Given the description of an element on the screen output the (x, y) to click on. 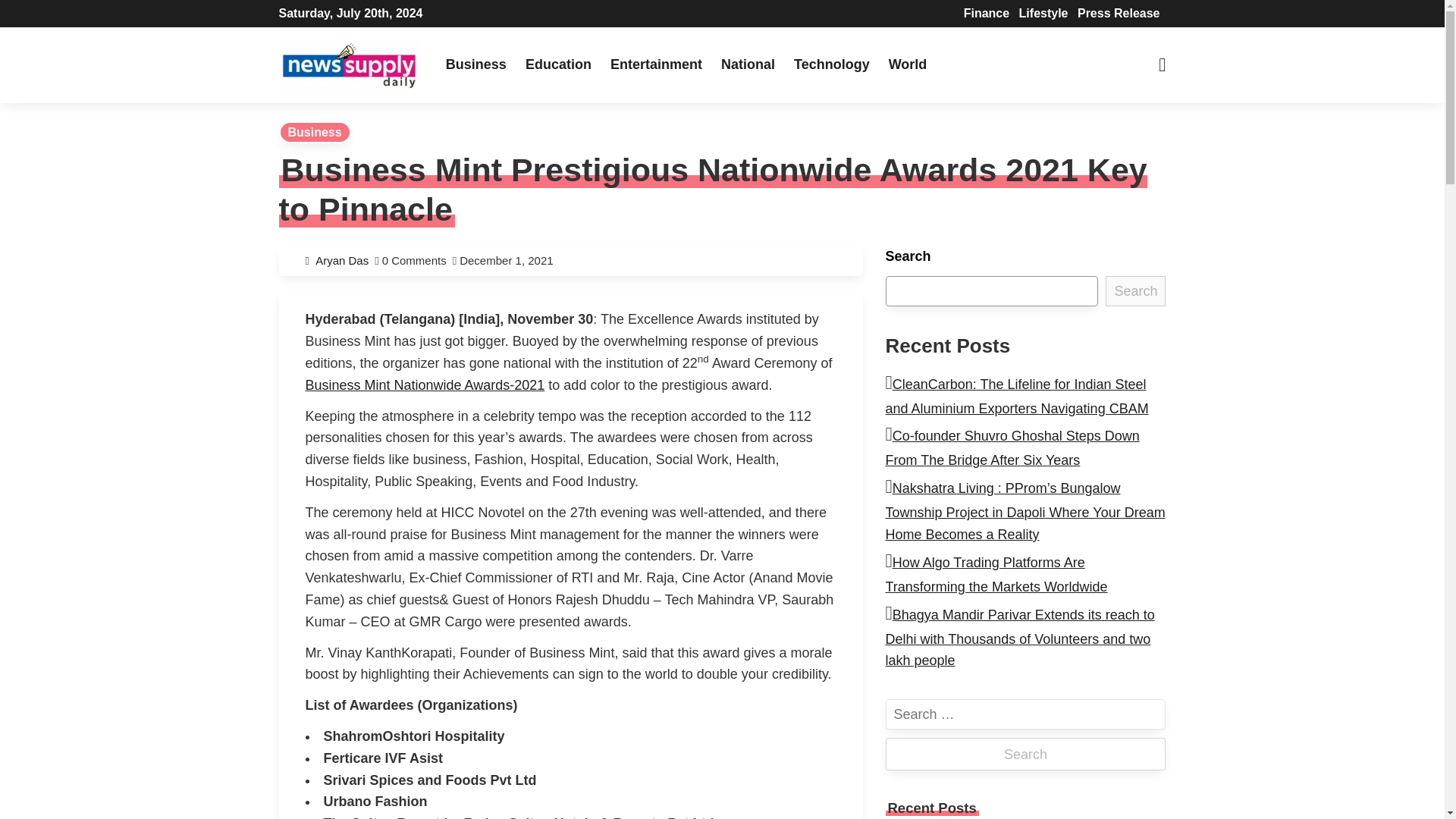
Press Release (1118, 12)
Search (1135, 291)
Business (315, 132)
Search (1025, 753)
Search (1025, 753)
Education (558, 64)
Lifestyle (1043, 12)
Entertainment (656, 64)
Aryan Das (344, 259)
Business Mint Nationwide Awards-2021 (424, 385)
Finance (986, 12)
Technology (831, 64)
